Given the description of an element on the screen output the (x, y) to click on. 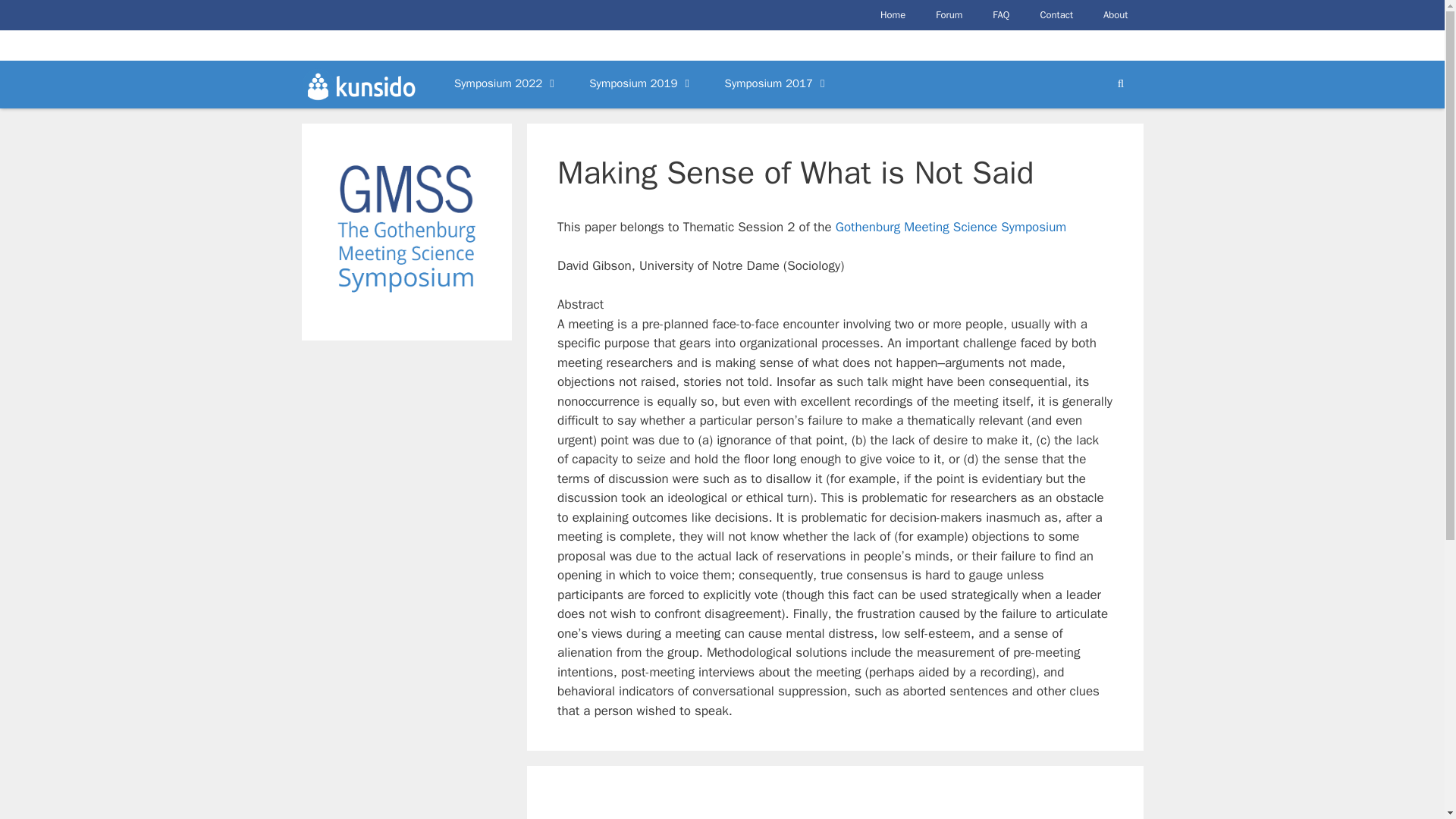
Contact (1056, 15)
Kunsido (359, 84)
Forum (948, 15)
FAQ (1000, 15)
About (1114, 15)
Home (892, 15)
